Given the description of an element on the screen output the (x, y) to click on. 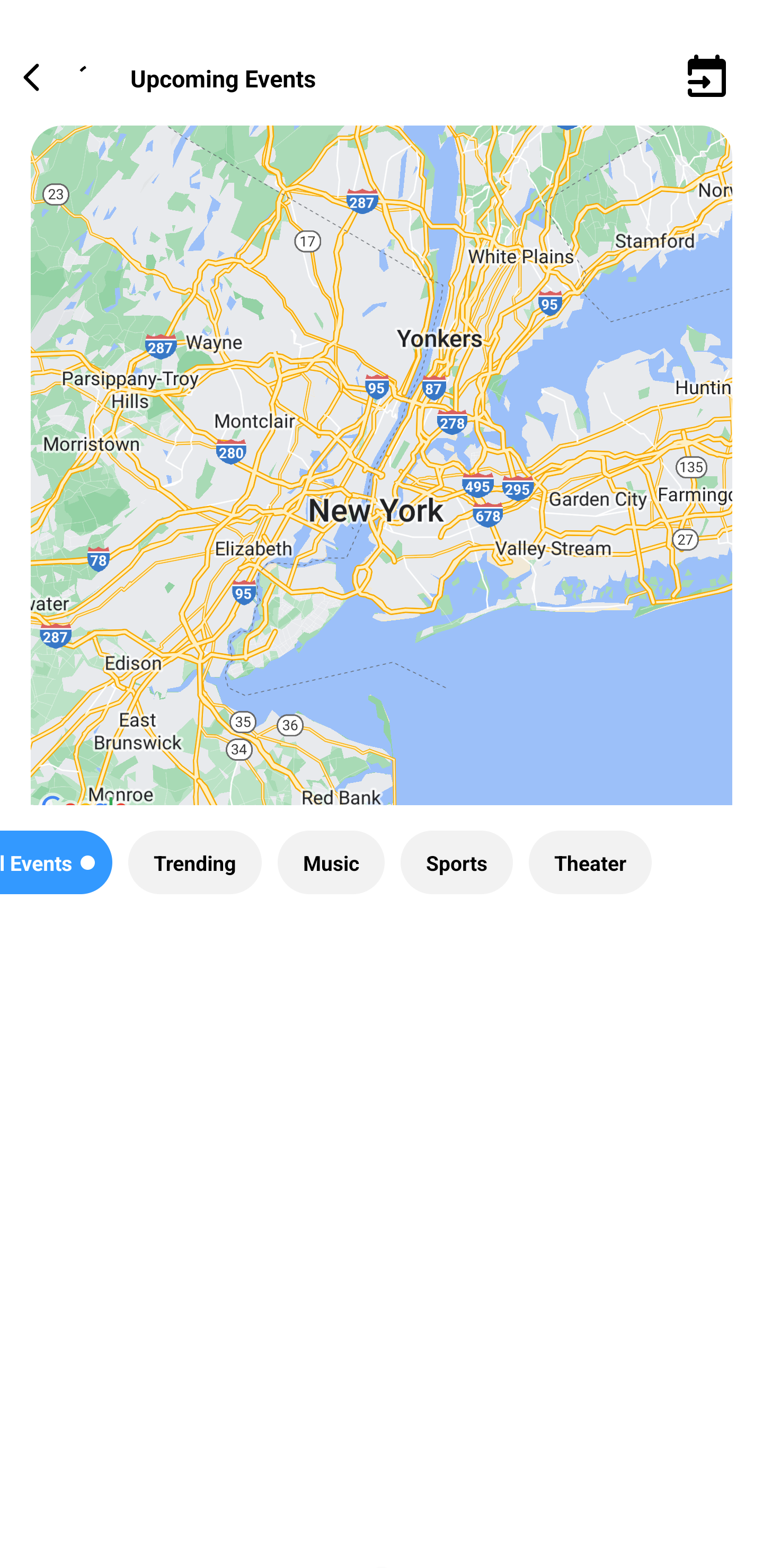
Google Map (381, 480)
Trending (194, 862)
Music (330, 862)
Sports (456, 862)
Theater (589, 862)
